Given the description of an element on the screen output the (x, y) to click on. 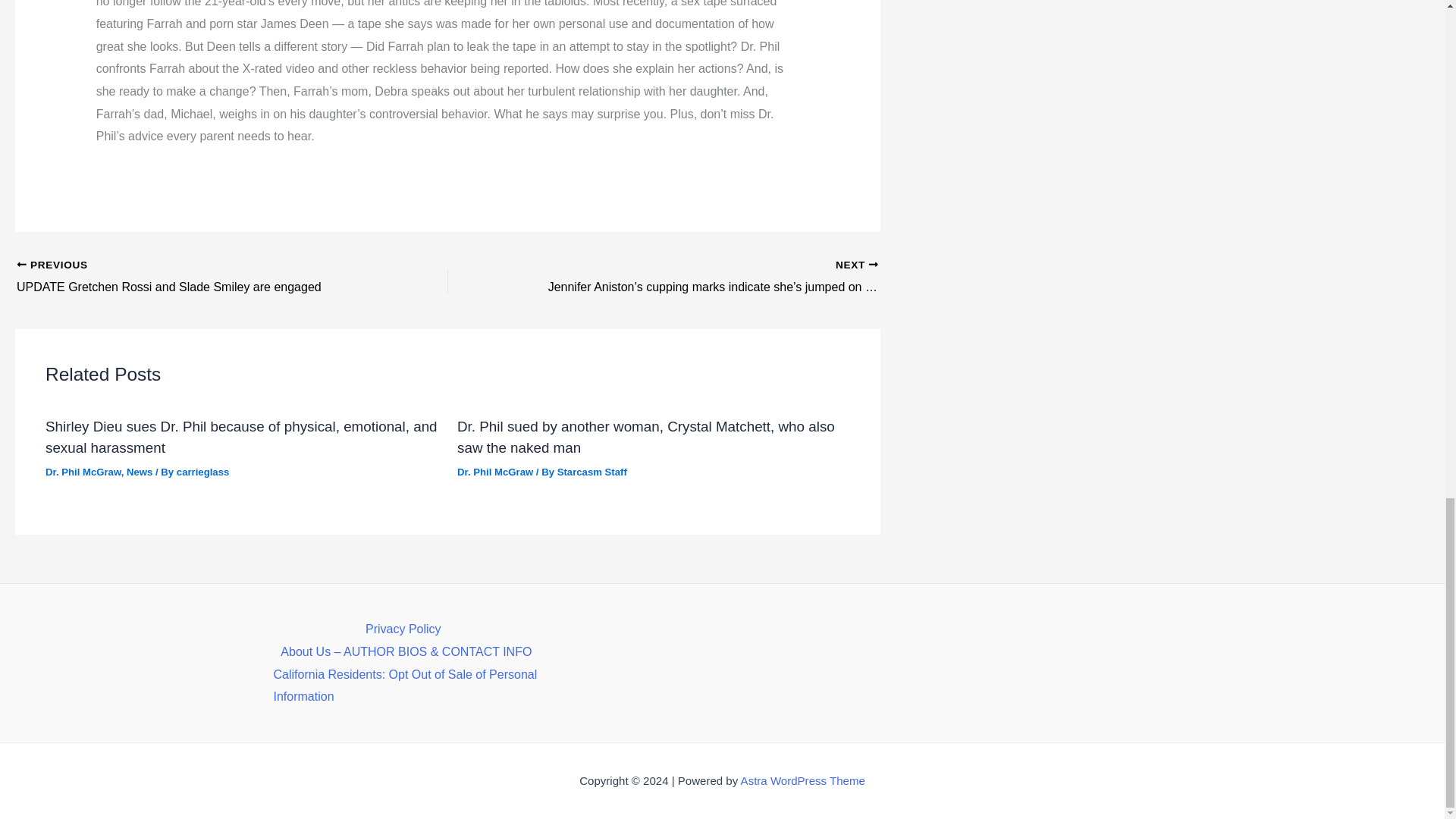
UPDATE Gretchen Rossi and Slade Smiley are engaged (189, 277)
View all posts by carrieglass (203, 471)
View all posts by Starcasm Staff (592, 471)
